Given the description of an element on the screen output the (x, y) to click on. 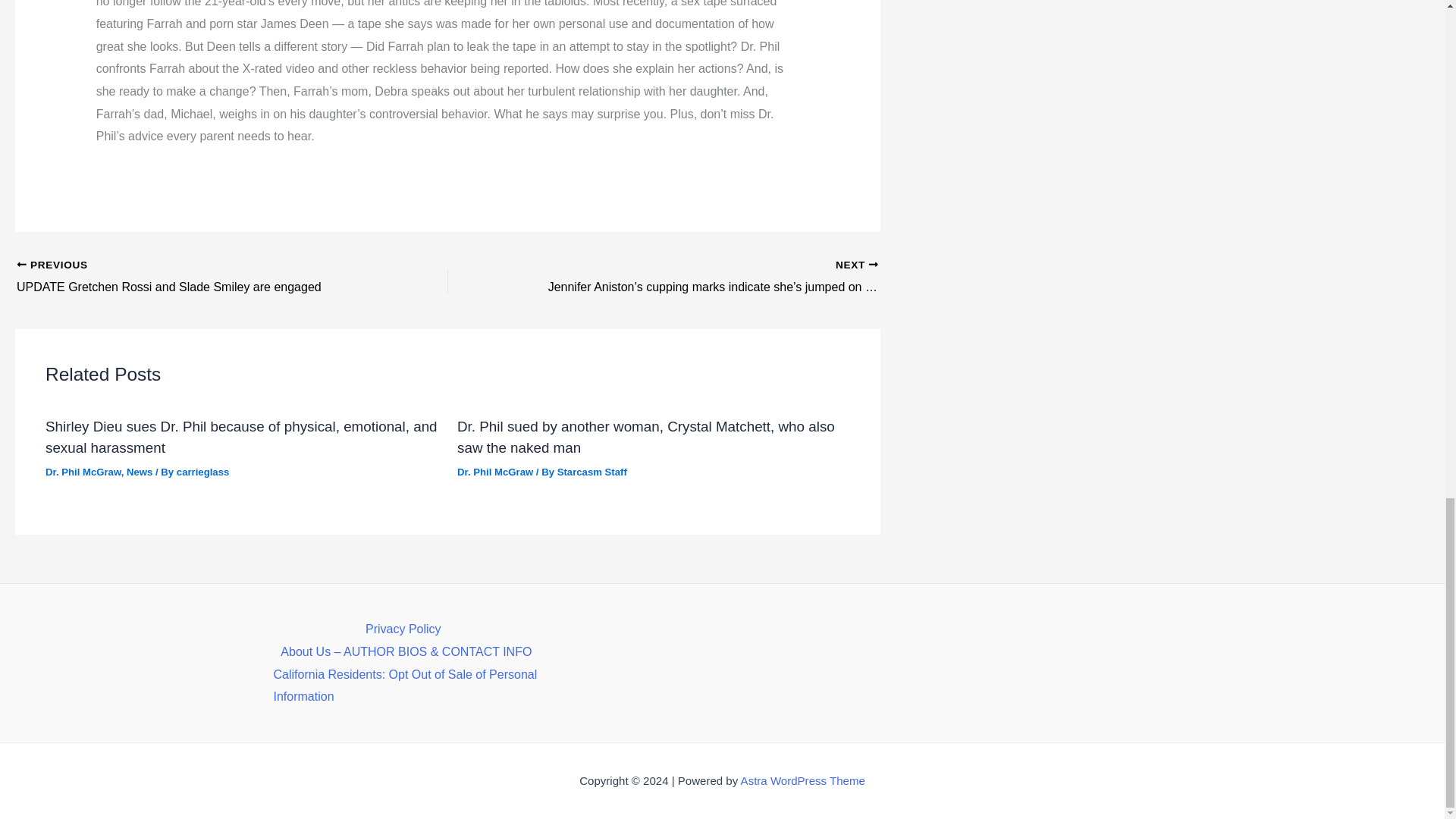
UPDATE Gretchen Rossi and Slade Smiley are engaged (189, 277)
View all posts by carrieglass (203, 471)
View all posts by Starcasm Staff (592, 471)
